Given the description of an element on the screen output the (x, y) to click on. 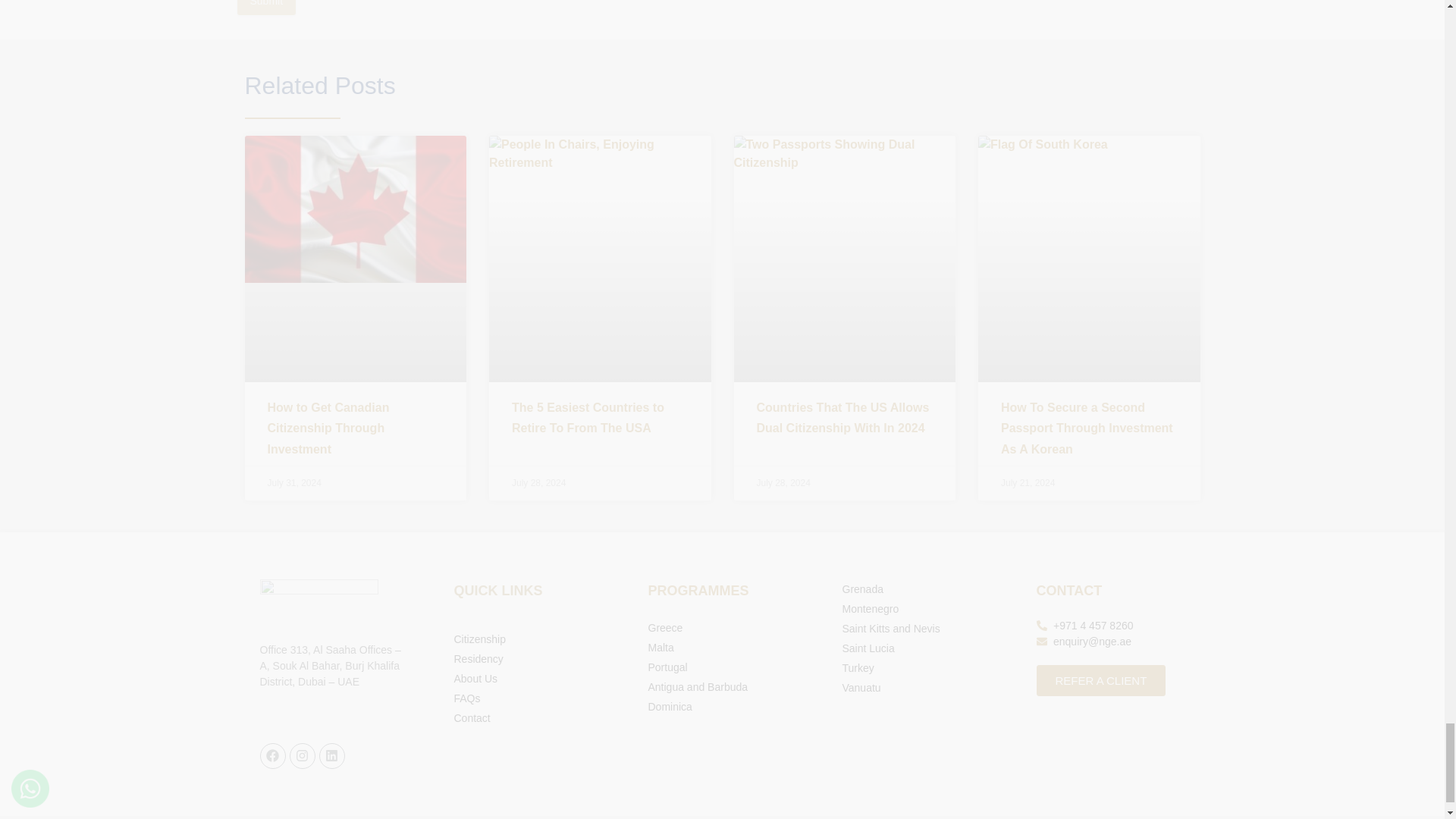
Submit (265, 7)
